Given the description of an element on the screen output the (x, y) to click on. 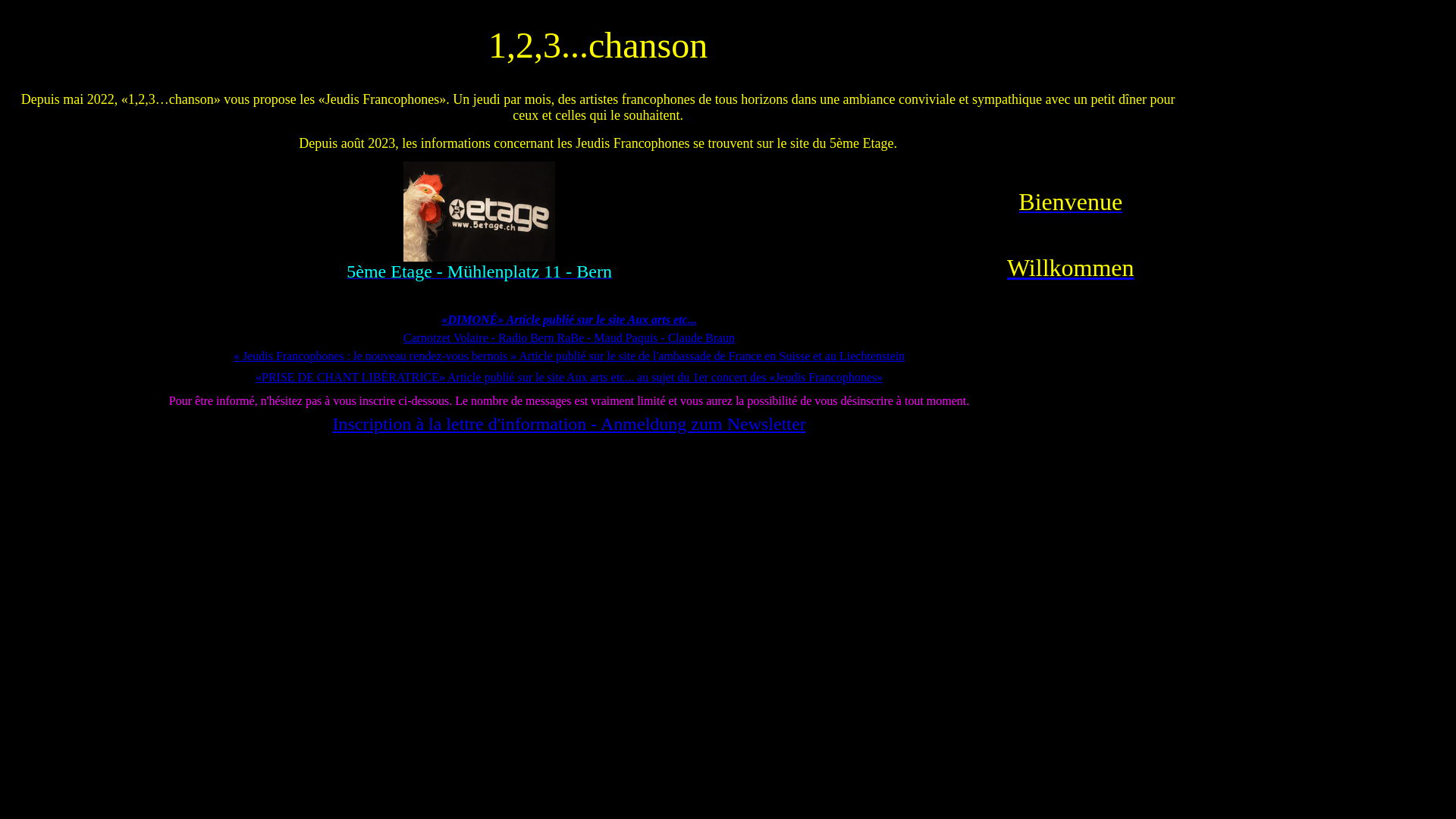
Willkommen Element type: text (1070, 266)
Bienvenue Element type: text (1070, 203)
